Given the description of an element on the screen output the (x, y) to click on. 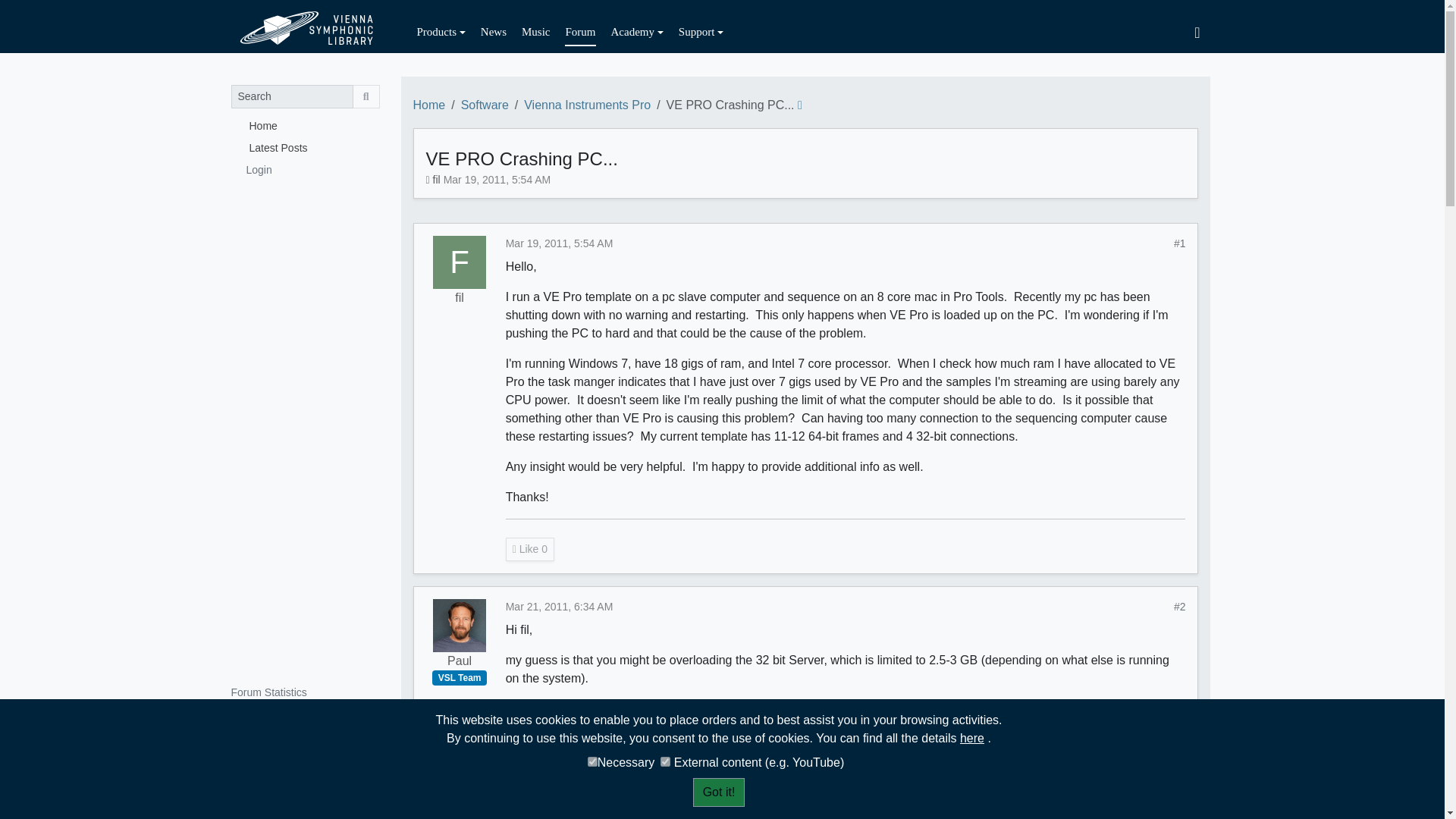
Paul (458, 660)
Mar 19, 2011, 5:54 AM (497, 179)
News (493, 32)
fil (459, 262)
Latest Posts (304, 147)
8 (665, 761)
4 (592, 761)
Forum (579, 32)
Music (535, 32)
Mar 19, 2011, 5:54 AM (558, 243)
